Given the description of an element on the screen output the (x, y) to click on. 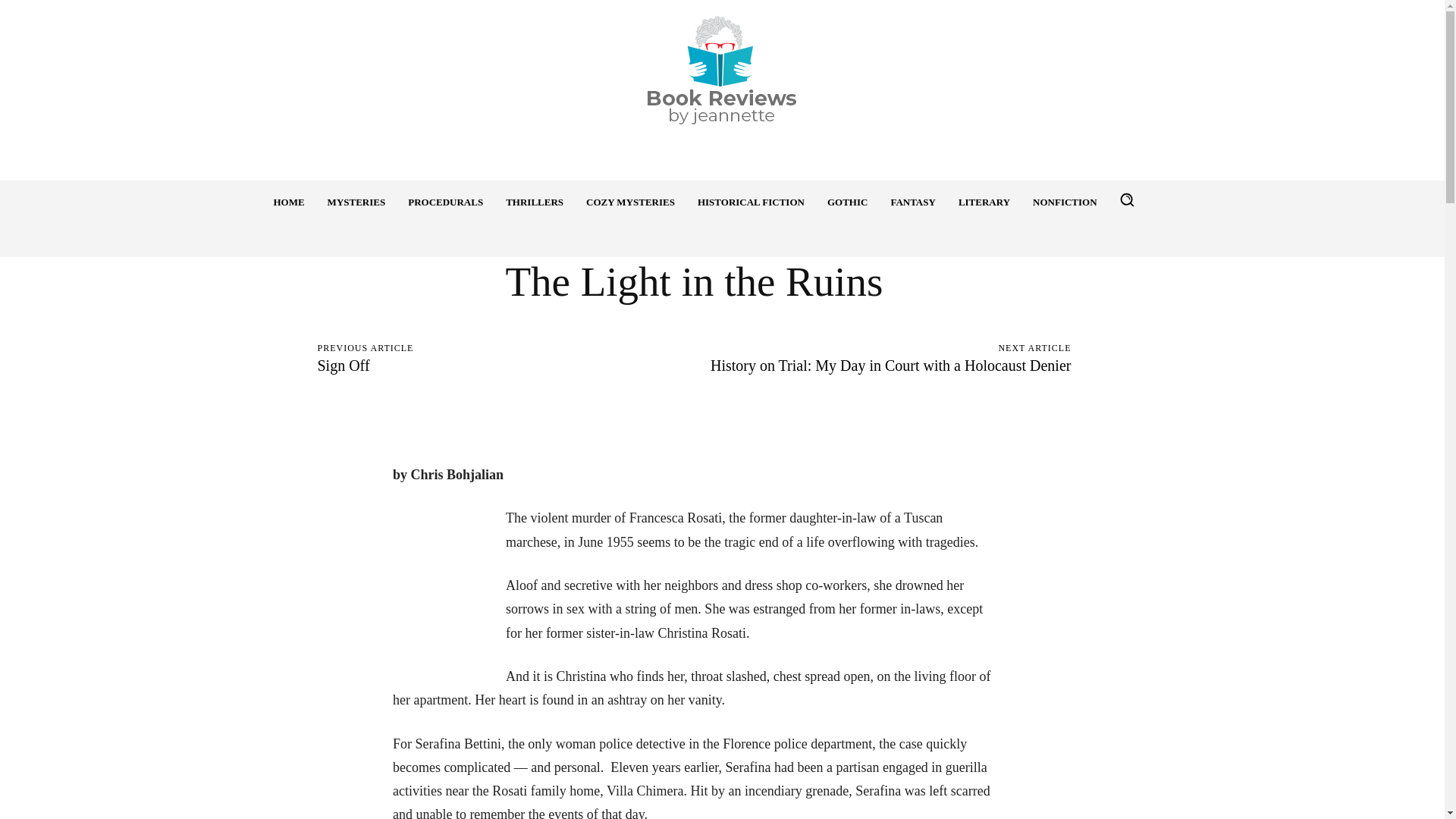
History on Trial: My Day in Court with a Holocaust Denier (890, 365)
LITERARY (984, 202)
THRILLERS (535, 202)
NONFICTION (1065, 202)
HISTORICAL FICTION (750, 202)
FANTASY (912, 202)
PROCEDURALS (445, 202)
HOME (288, 202)
MYSTERIES (356, 202)
COZY MYSTERIES (630, 202)
